Given the description of an element on the screen output the (x, y) to click on. 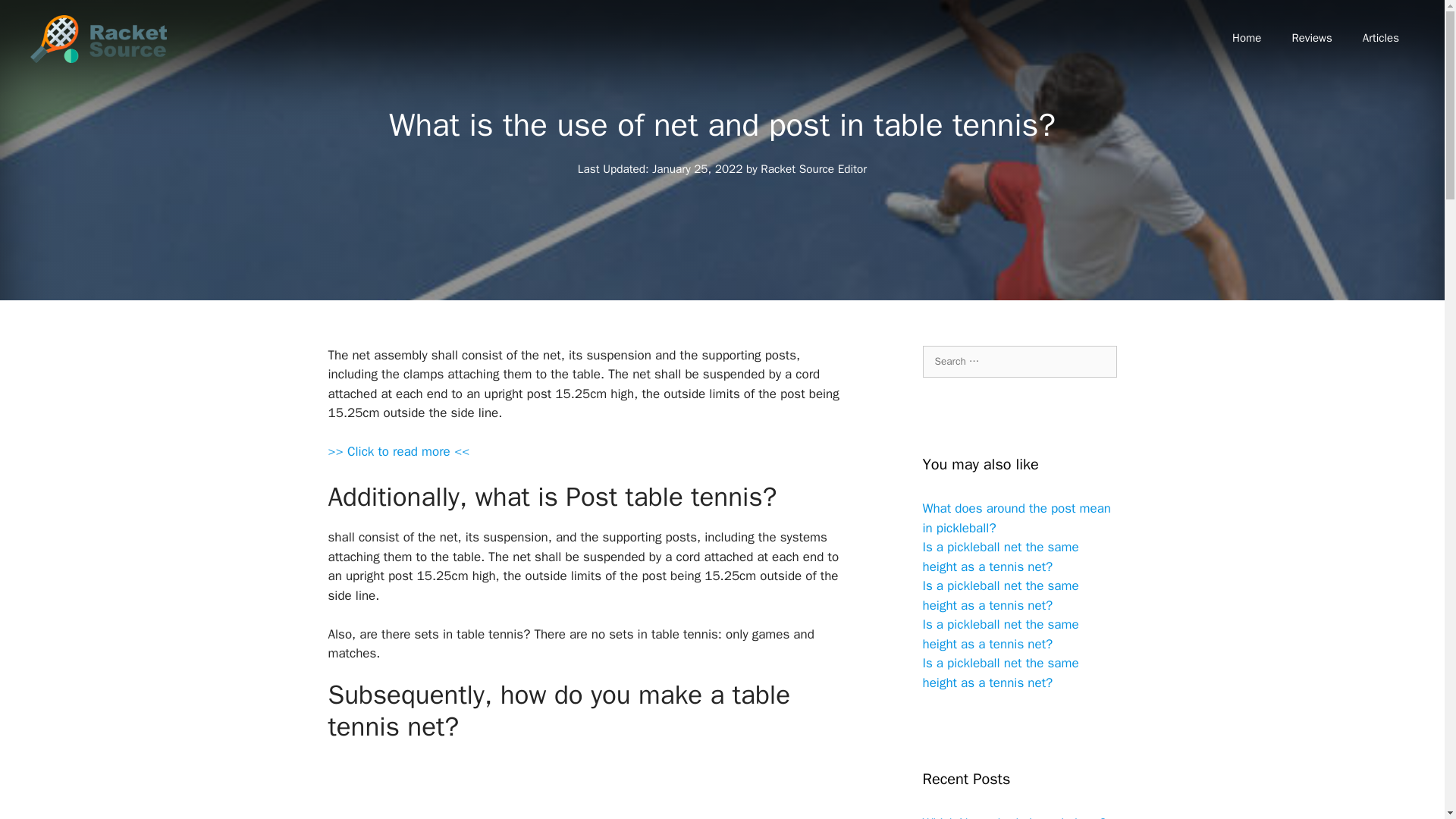
Is a pickleball net the same height as a tennis net? (999, 633)
Racket Source (98, 37)
What is the use of net and post in table tennis? (397, 451)
Which Yonex badminton is best? (1013, 816)
Is a pickleball net the same height as a tennis net? (999, 595)
Articles (1380, 37)
Search for: (1018, 361)
Racket Source (98, 39)
Is a pickleball net the same height as a tennis net? (999, 673)
Home (1246, 37)
What does around the post mean in pickleball? (1015, 518)
Reviews (1311, 37)
Is a pickleball net the same height as a tennis net? (999, 556)
Search (35, 18)
